Given the description of an element on the screen output the (x, y) to click on. 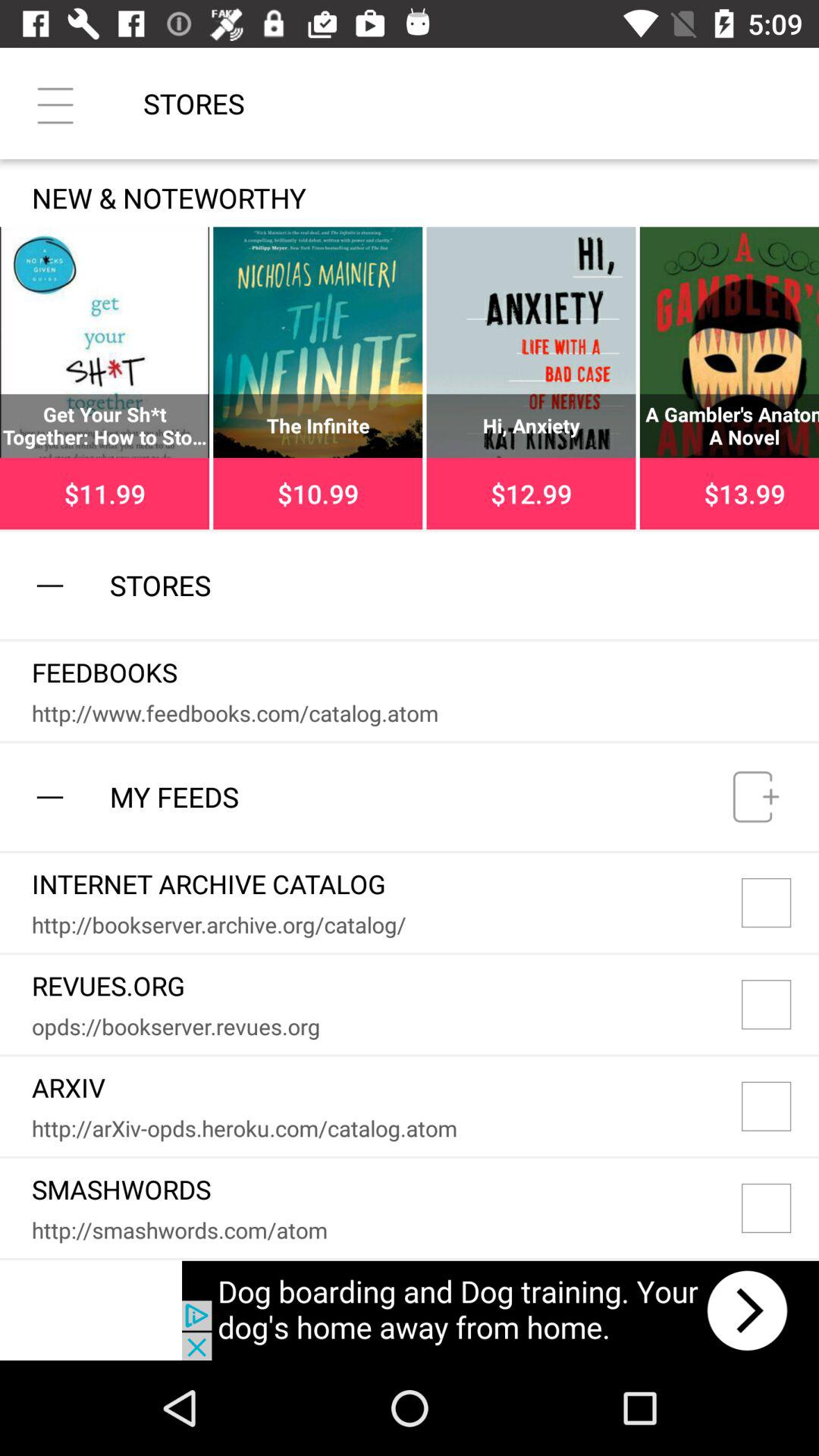
toggle checkbox (780, 1004)
